Given the description of an element on the screen output the (x, y) to click on. 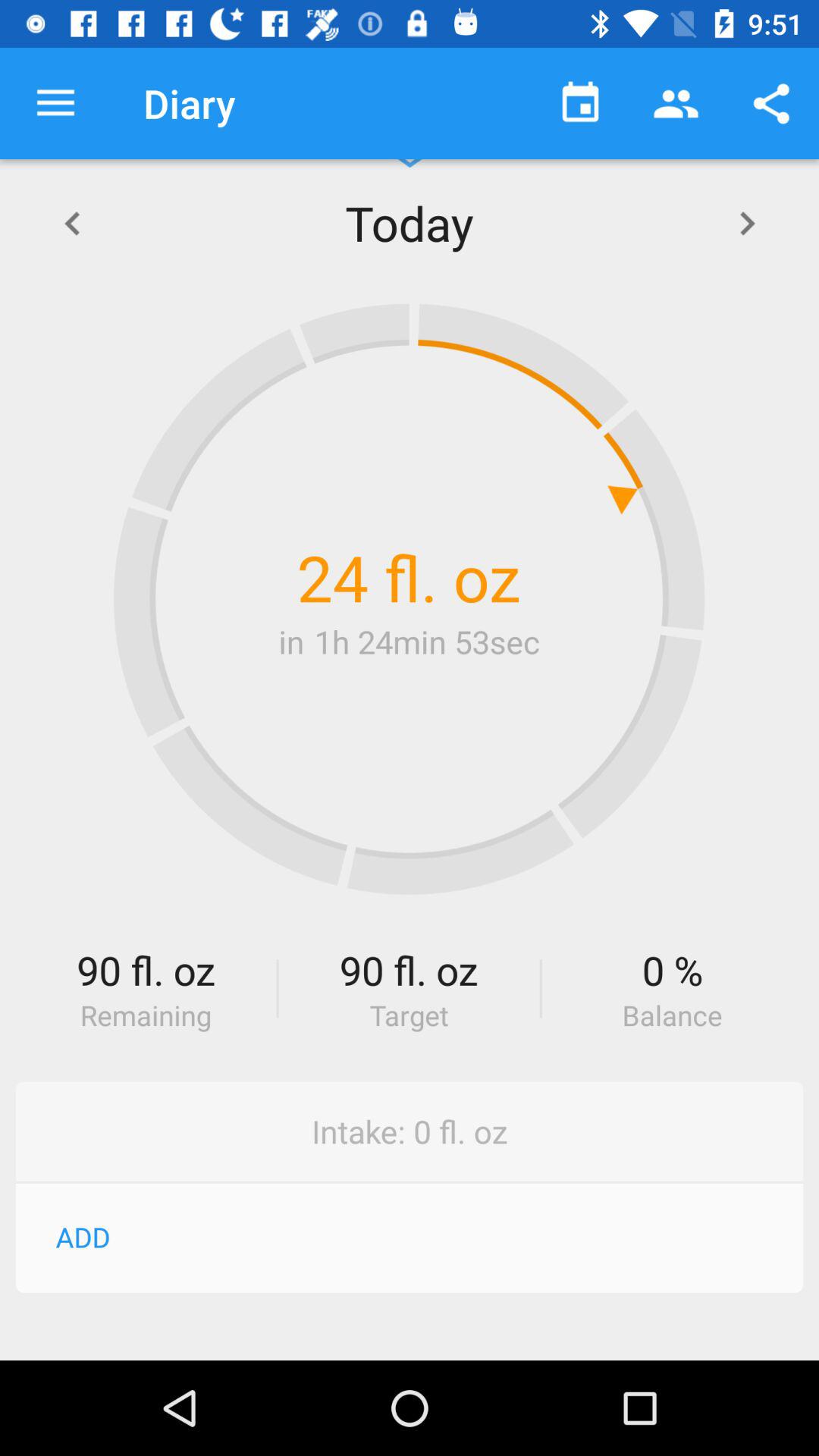
open icon to the left of the diary (55, 103)
